Given the description of an element on the screen output the (x, y) to click on. 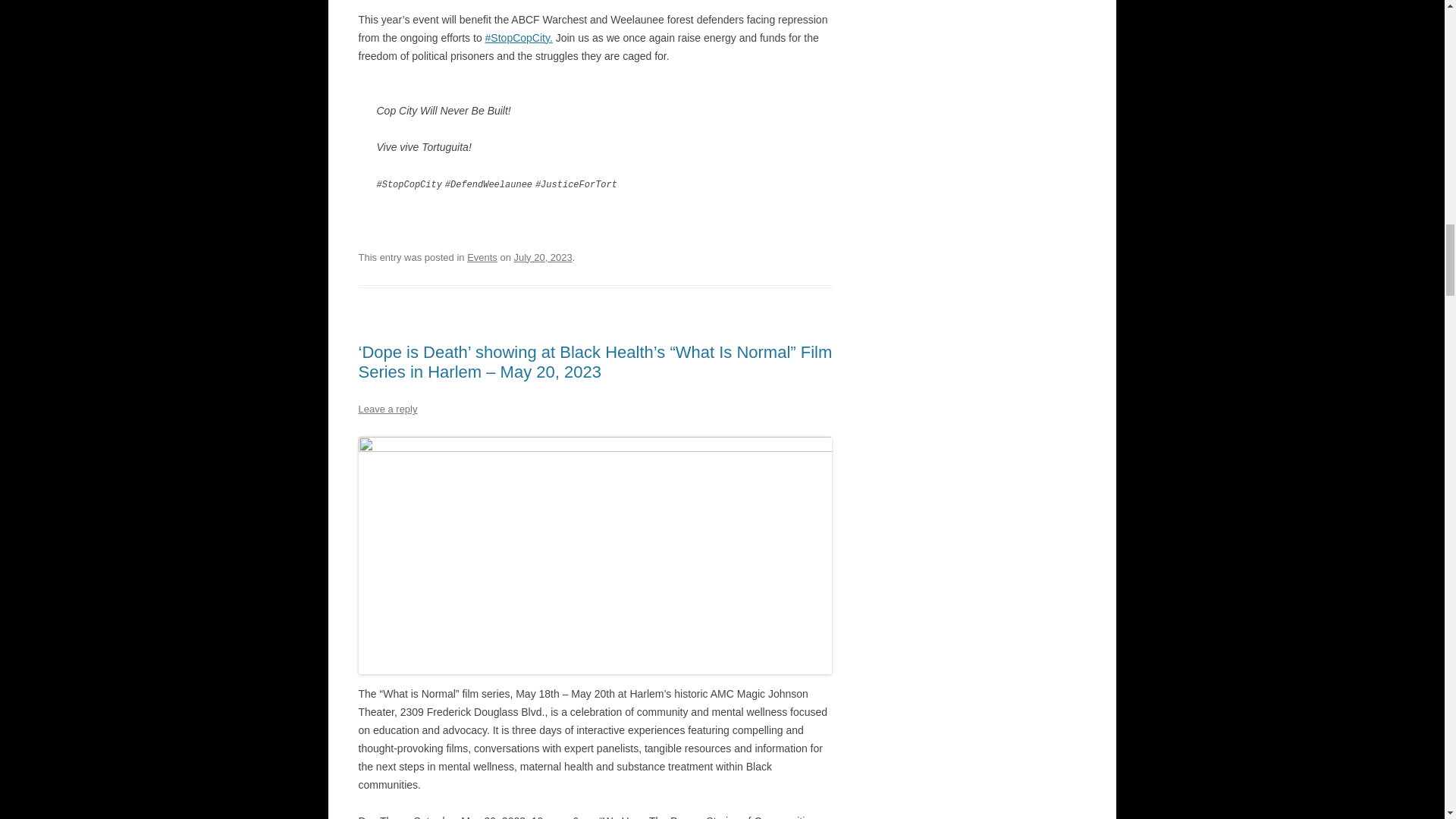
July 20, 2023 (542, 256)
Events (482, 256)
2:32 pm (542, 256)
Leave a reply (387, 408)
